Given the description of an element on the screen output the (x, y) to click on. 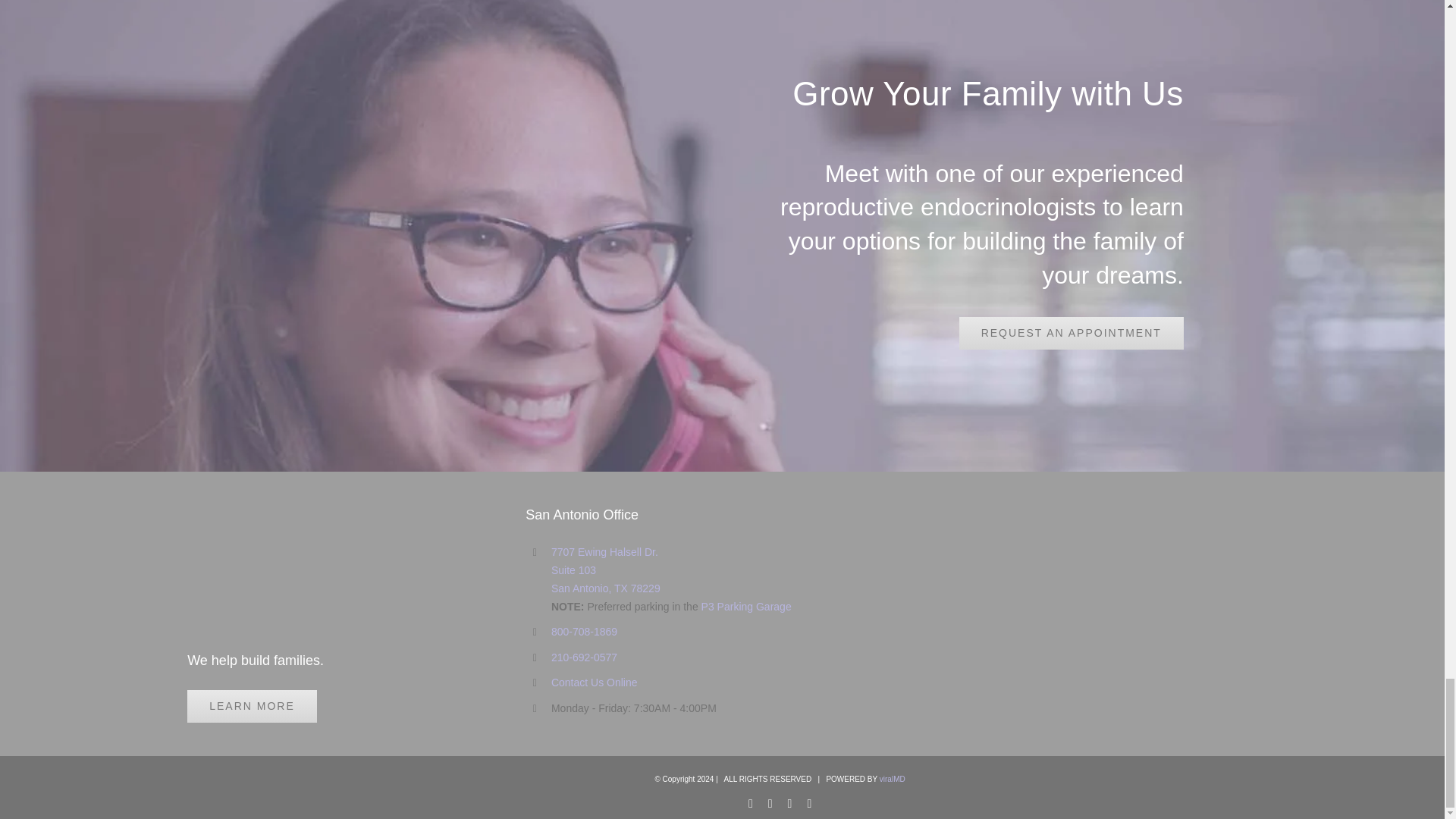
fertility-center-of-san-antonio-logo-white (270, 569)
request appointment (1071, 332)
